Given the description of an element on the screen output the (x, y) to click on. 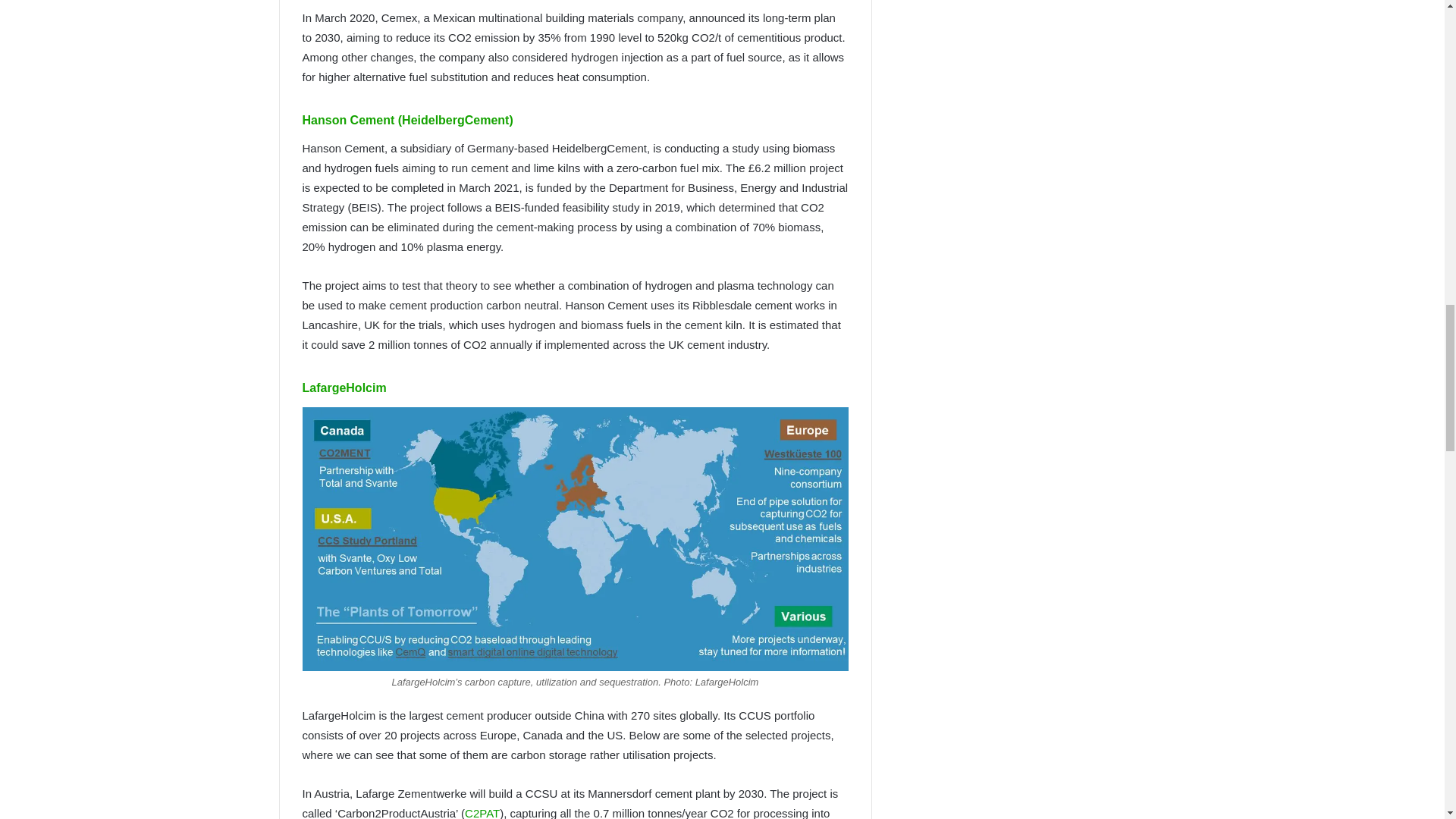
C2PAT (481, 812)
